Given the description of an element on the screen output the (x, y) to click on. 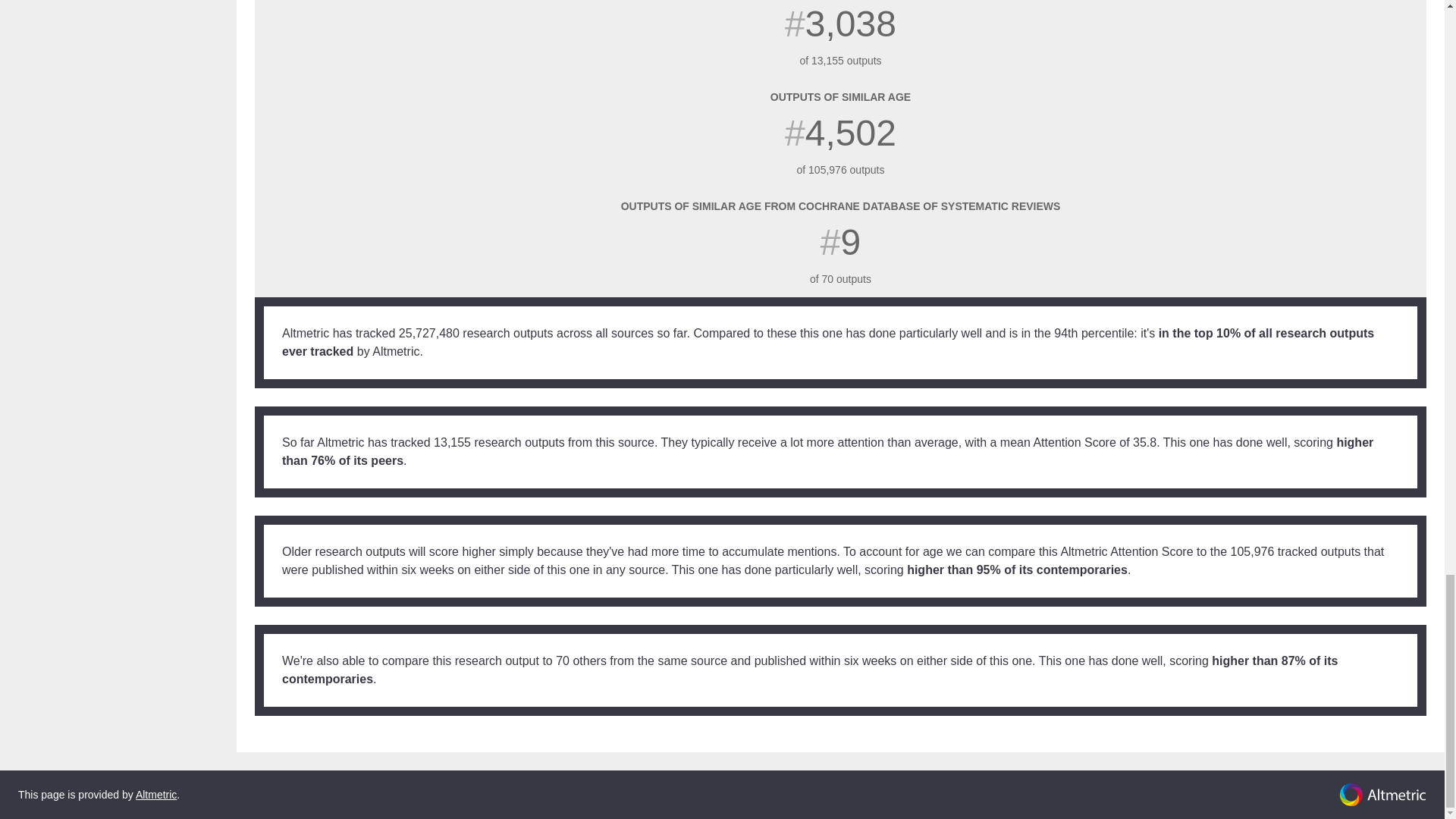
Altmetric (155, 794)
Altmetric (1382, 794)
